Given the description of an element on the screen output the (x, y) to click on. 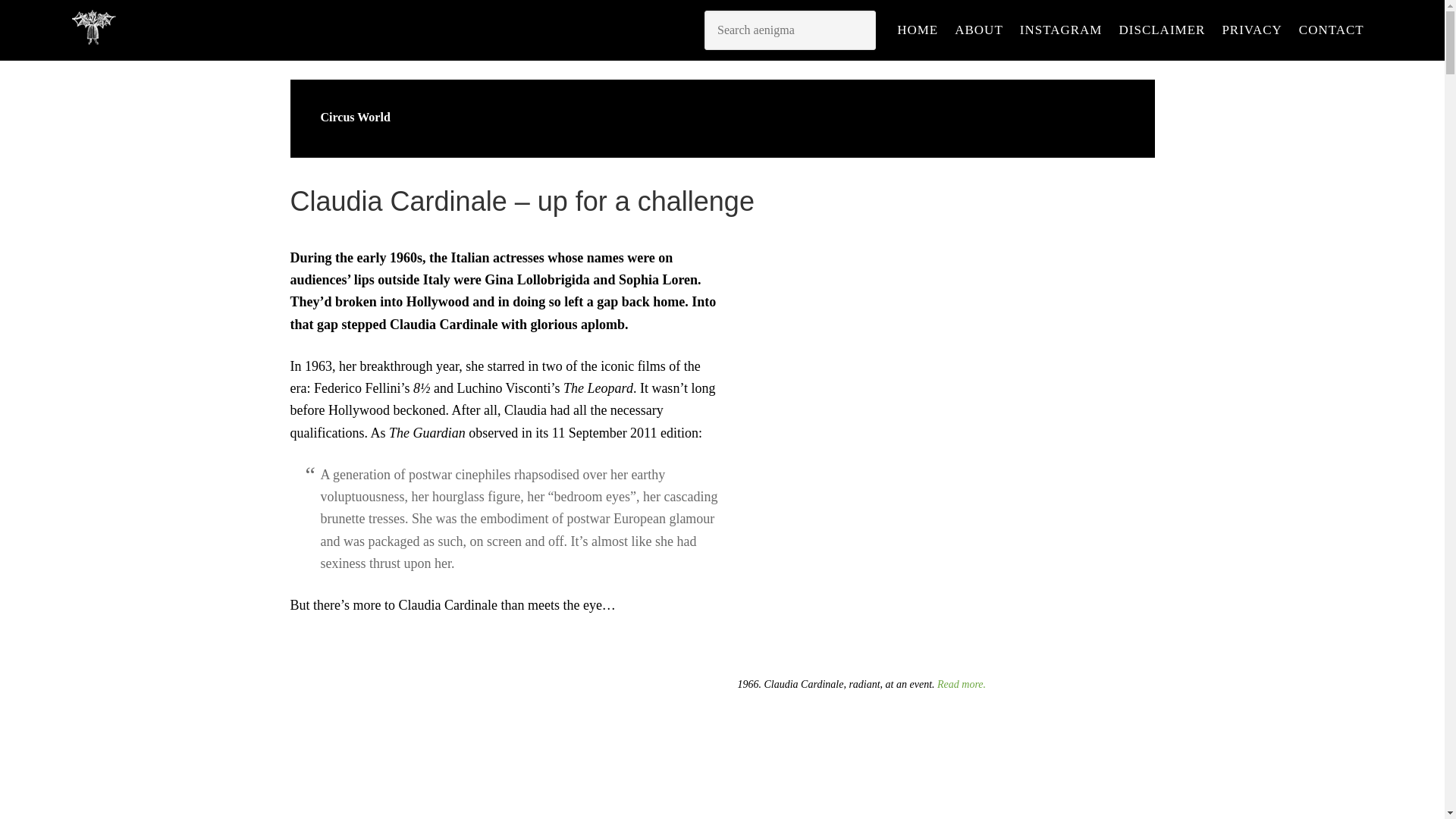
INSTAGRAM (1060, 30)
DISCLAIMER (1161, 30)
PRIVACY (1251, 30)
HOME (916, 30)
Search (790, 29)
ABOUT (978, 30)
Read more. (961, 684)
CONTACT (1331, 30)
